Given the description of an element on the screen output the (x, y) to click on. 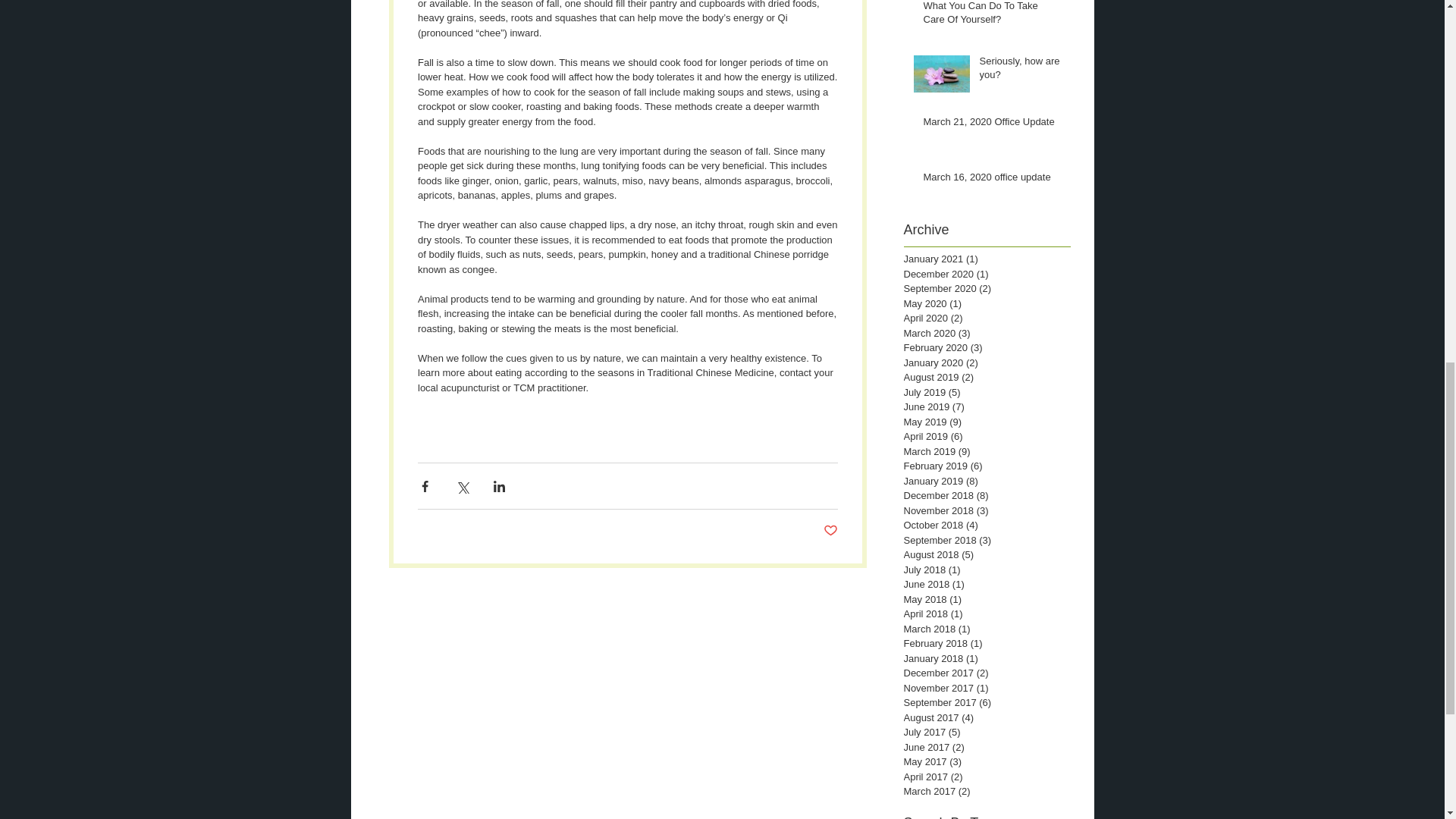
March 21, 2020 Office Update (992, 125)
Seriously, how are you? (1020, 70)
March 16, 2020 office update (992, 180)
Post not marked as liked (831, 530)
What You Can Do To Take Care Of Yourself? (992, 16)
